Given the description of an element on the screen output the (x, y) to click on. 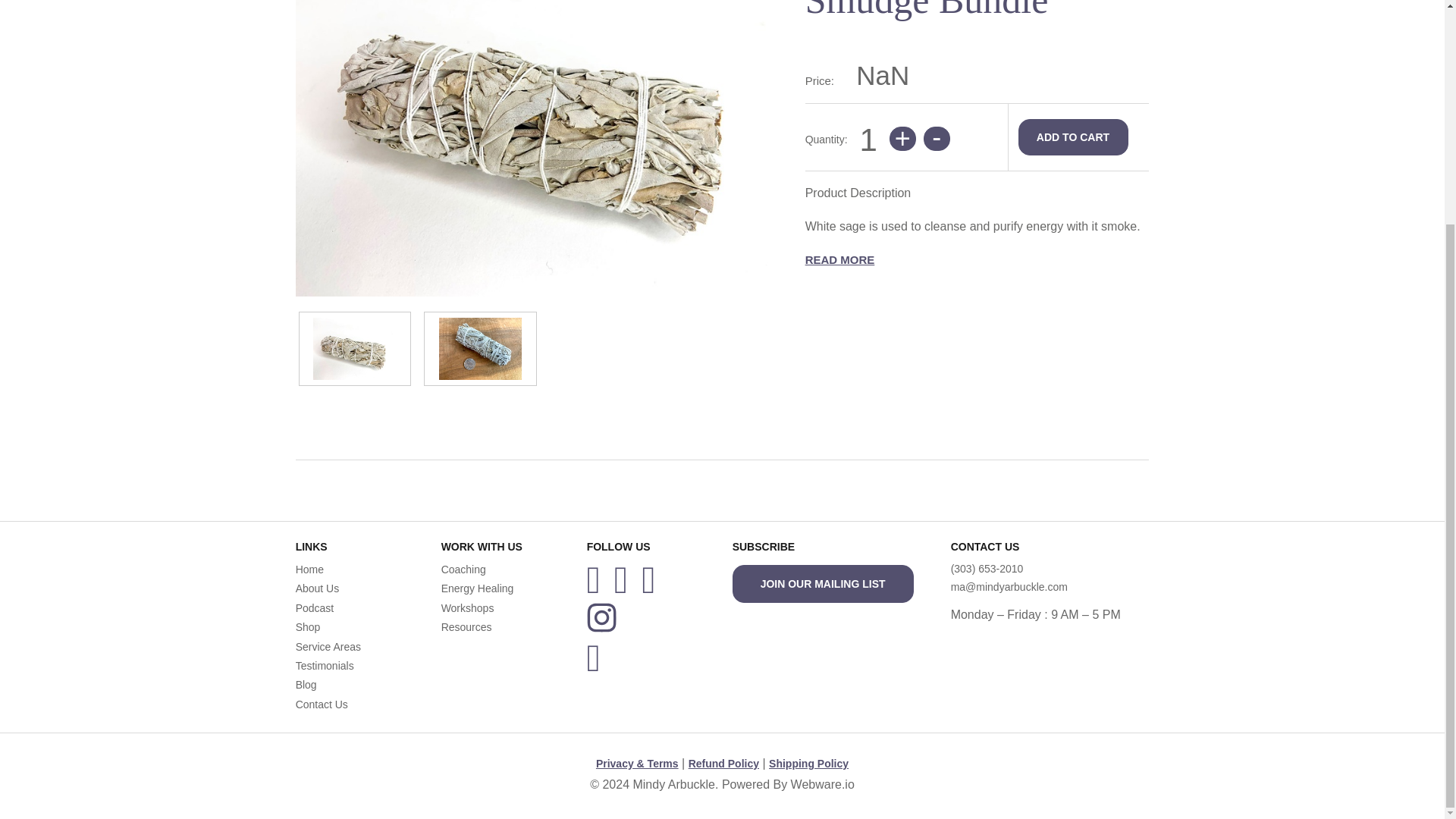
 Add to cart  (1071, 136)
READ MORE (840, 259)
 Add to cart  (1071, 136)
- (936, 138)
